Given the description of an element on the screen output the (x, y) to click on. 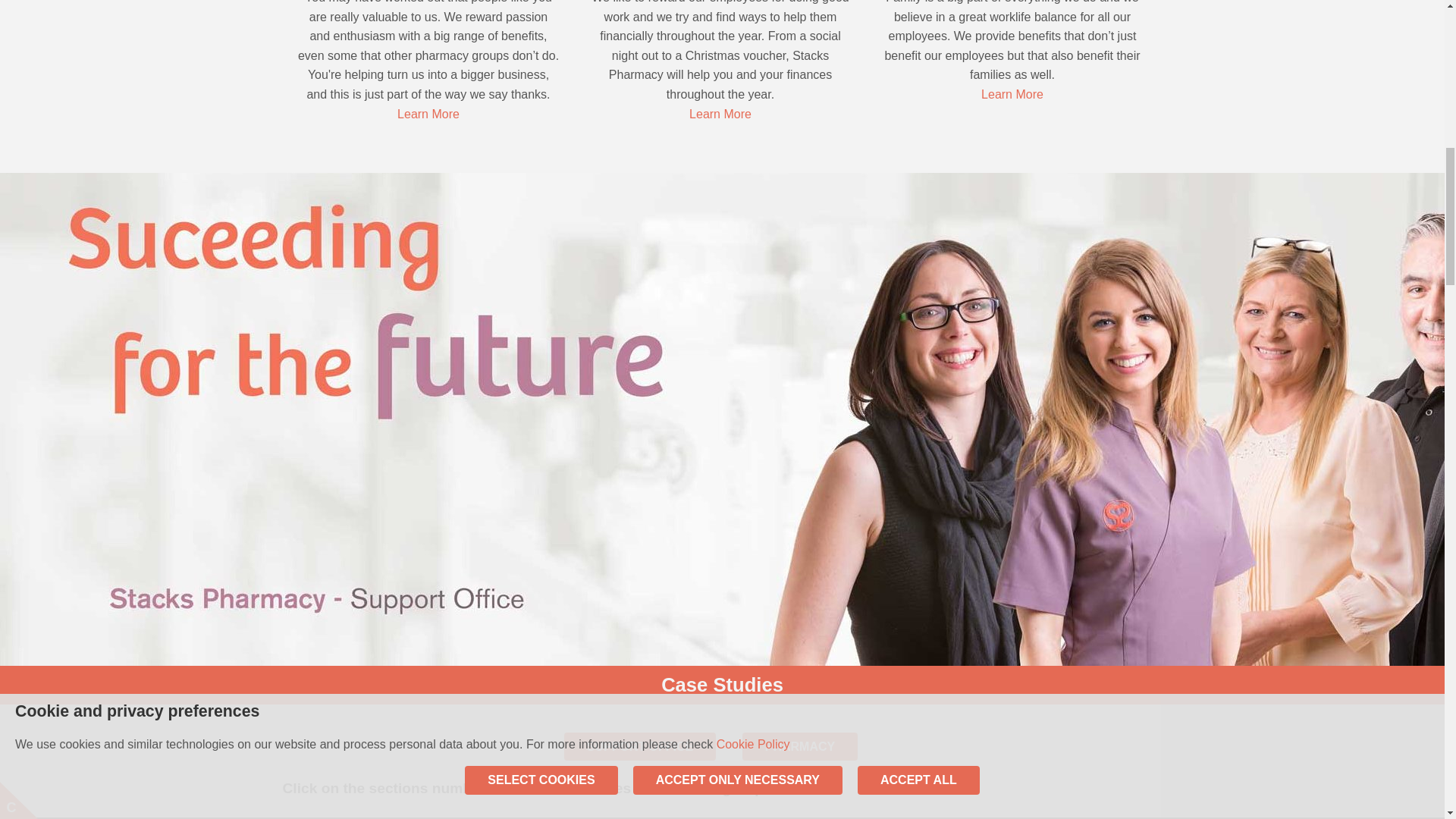
Learn More (719, 113)
PHARMACY (799, 746)
Learn More (1012, 93)
SUPPORT OFFICE (640, 746)
Learn More (428, 113)
